Given the description of an element on the screen output the (x, y) to click on. 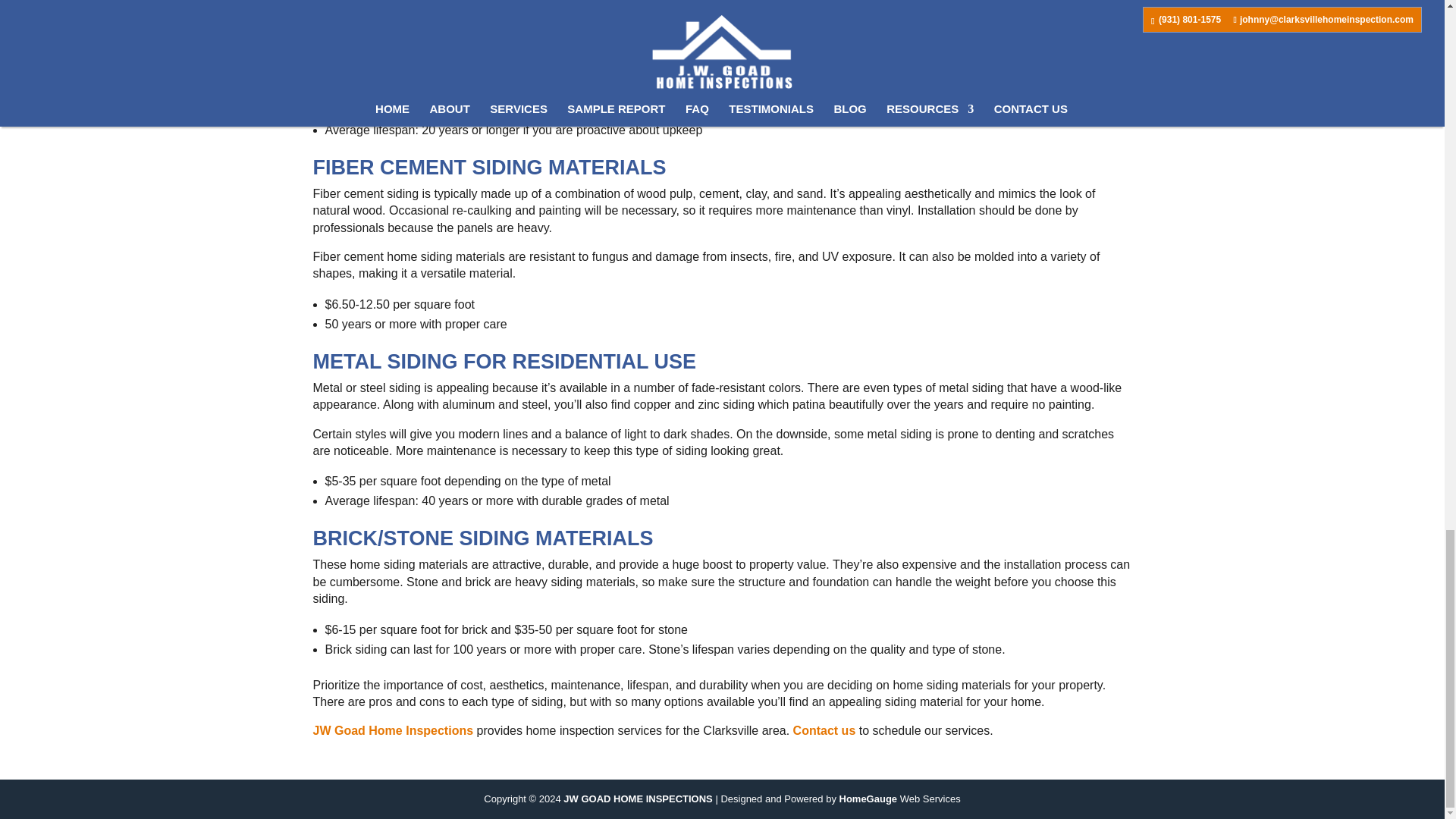
JW Goad Home Inspections (393, 730)
JW GOAD HOME INSPECTIONS (637, 798)
HomeGauge (867, 798)
Contact us (824, 730)
